Given the description of an element on the screen output the (x, y) to click on. 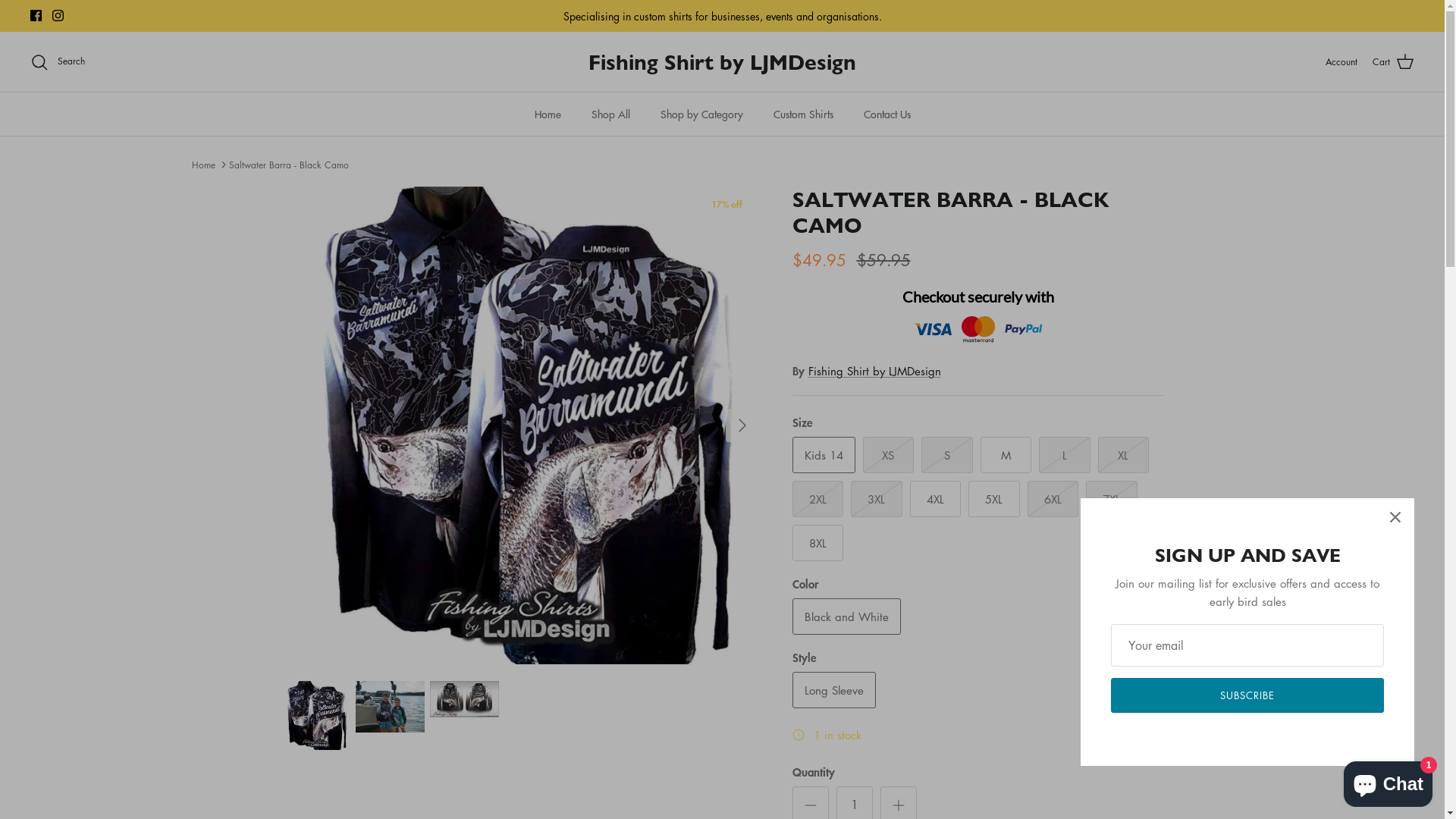
Account Element type: text (1341, 61)
Home Element type: text (202, 163)
Home Element type: text (547, 113)
Shop All Element type: text (610, 113)
RIGHT Element type: text (741, 425)
SUBSCRIBE Element type: text (1246, 694)
Saltwater Barra - Black Camo Element type: text (288, 163)
Contact Us Element type: text (886, 113)
Cart Element type: text (1393, 62)
Fishing Shirt by LJMDesign Element type: text (874, 370)
Fishing Shirt by LJMDesign Element type: text (722, 61)
Custom Shirts Element type: text (803, 113)
Facebook Element type: text (35, 15)
Search Element type: text (57, 62)
Shopify online store chat Element type: hover (1388, 780)
Shop by Category Element type: text (701, 113)
Instagram Element type: text (57, 15)
